Given the description of an element on the screen output the (x, y) to click on. 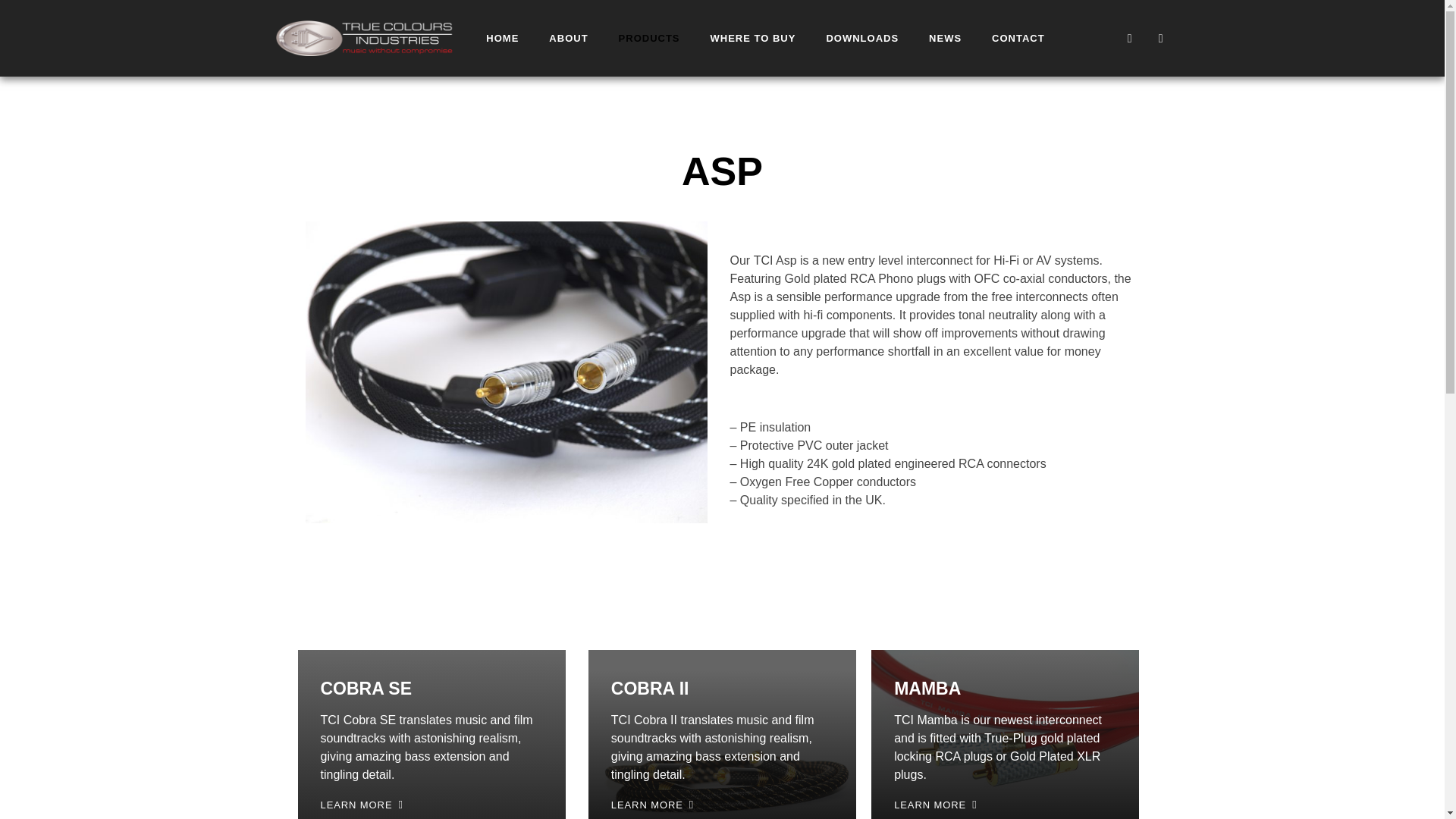
ABOUT (568, 38)
HOME (502, 38)
PRODUCTS (649, 38)
